Given the description of an element on the screen output the (x, y) to click on. 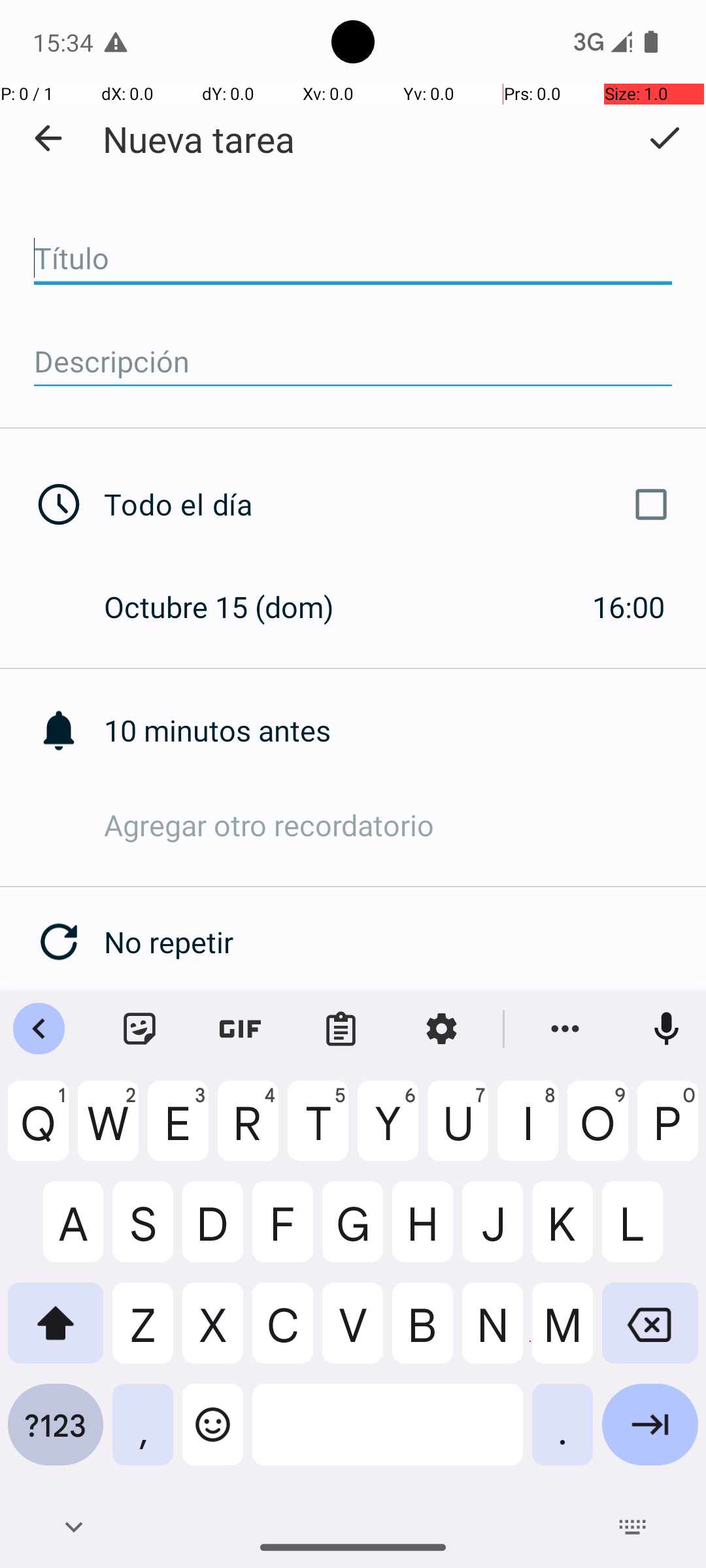
Nueva tarea Element type: android.widget.TextView (198, 138)
Guardar Element type: android.widget.Button (664, 137)
Título Element type: android.widget.EditText (352, 258)
Descripción Element type: android.widget.EditText (352, 361)
Octubre 15 (dom) Element type: android.widget.TextView (232, 606)
10 minutos antes Element type: android.widget.TextView (404, 729)
Agregar otro recordatorio Element type: android.widget.TextView (404, 824)
No repetir Element type: android.widget.TextView (404, 941)
Todo el día Element type: android.widget.CheckBox (390, 504)
